Given the description of an element on the screen output the (x, y) to click on. 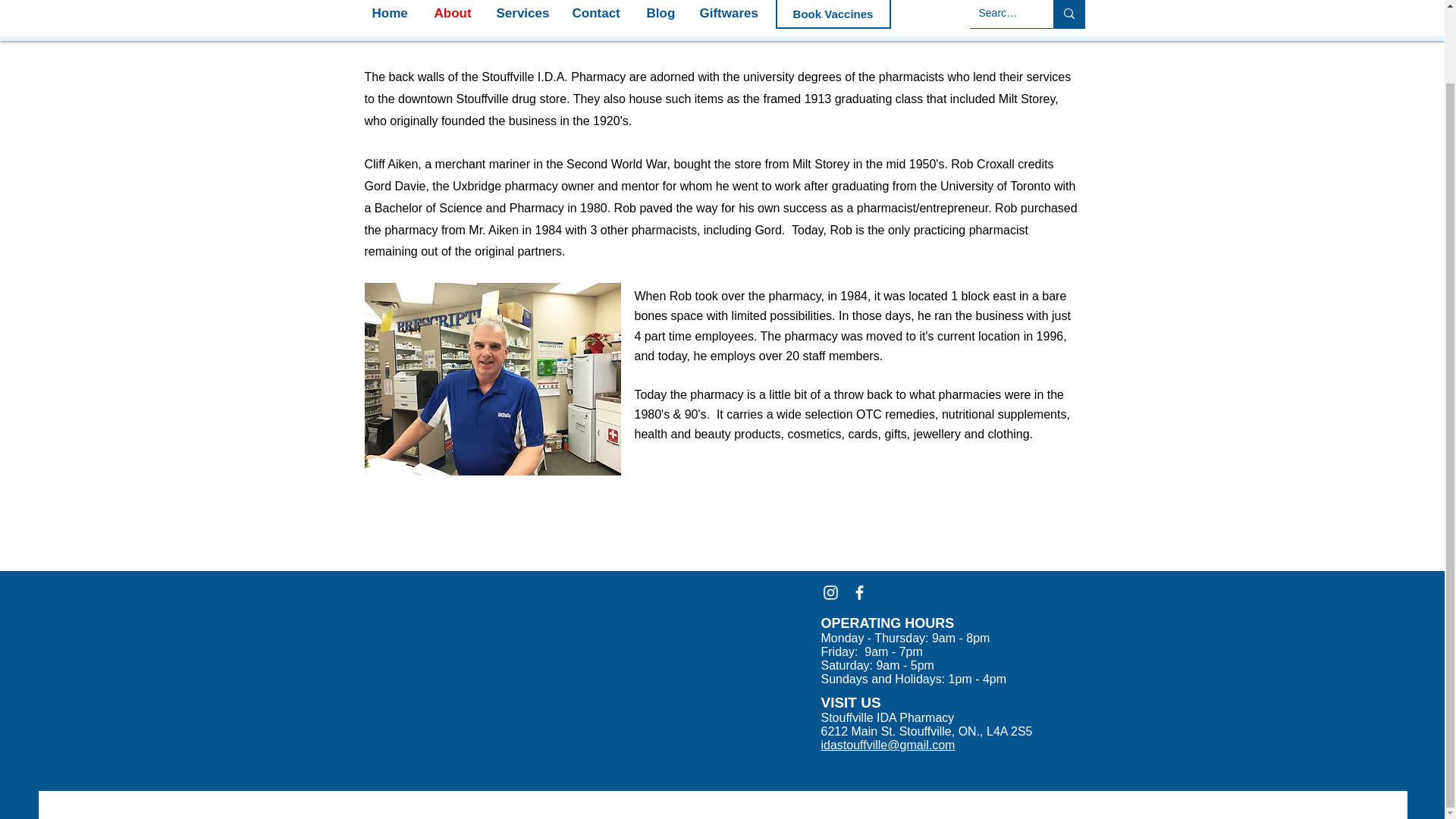
Website Design (483, 803)
Home (395, 13)
Services (525, 13)
Giftwares (732, 13)
Book Vaccines (831, 14)
Blog (665, 13)
Contact (601, 13)
About (456, 13)
